Given the description of an element on the screen output the (x, y) to click on. 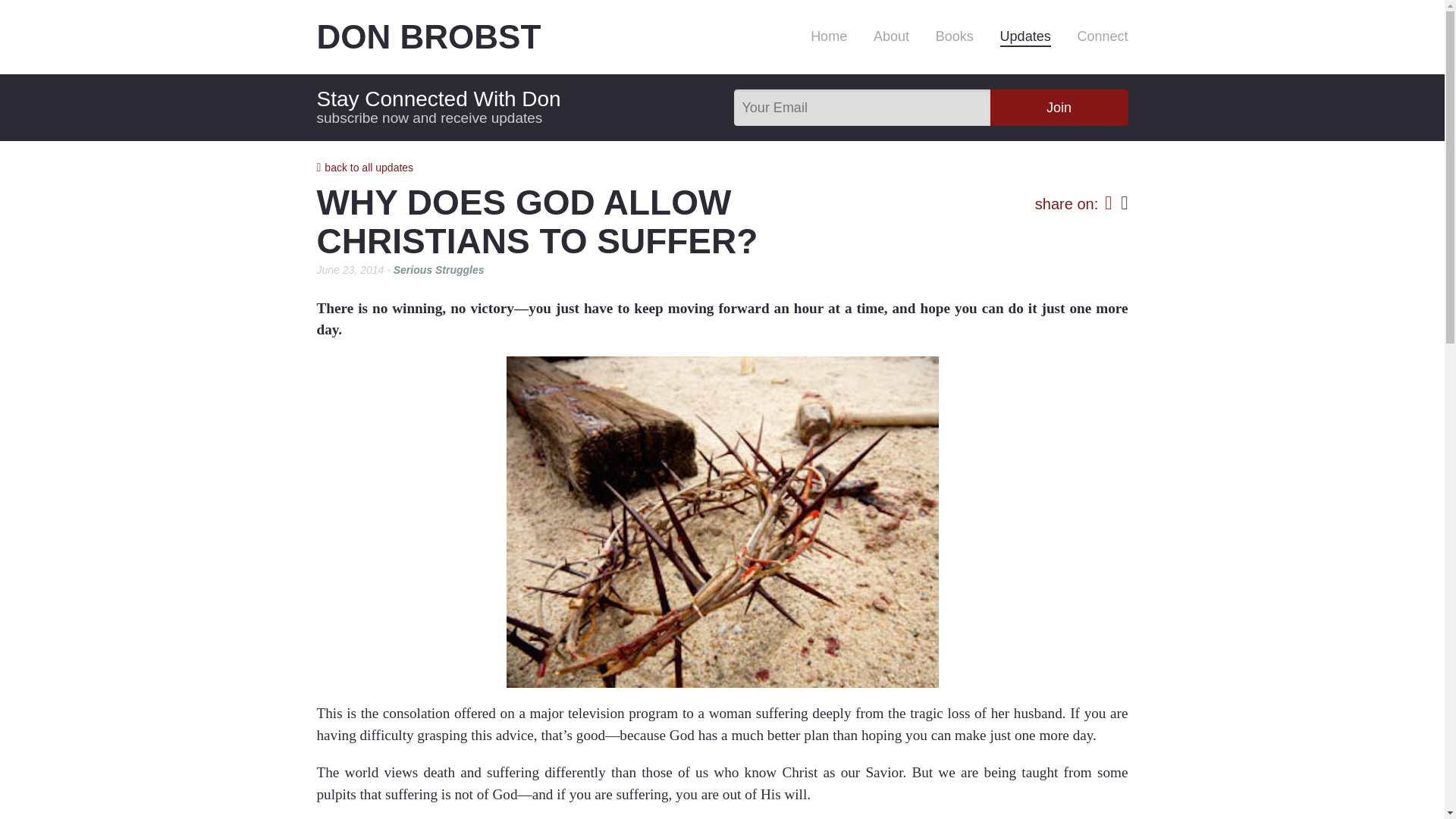
Connect (1101, 35)
DON BROBST (479, 36)
join (1059, 107)
Home (828, 35)
Books (955, 35)
back to all updates (365, 167)
About (890, 35)
Updates (1025, 35)
Serious Struggles (438, 270)
join (1059, 107)
